Given the description of an element on the screen output the (x, y) to click on. 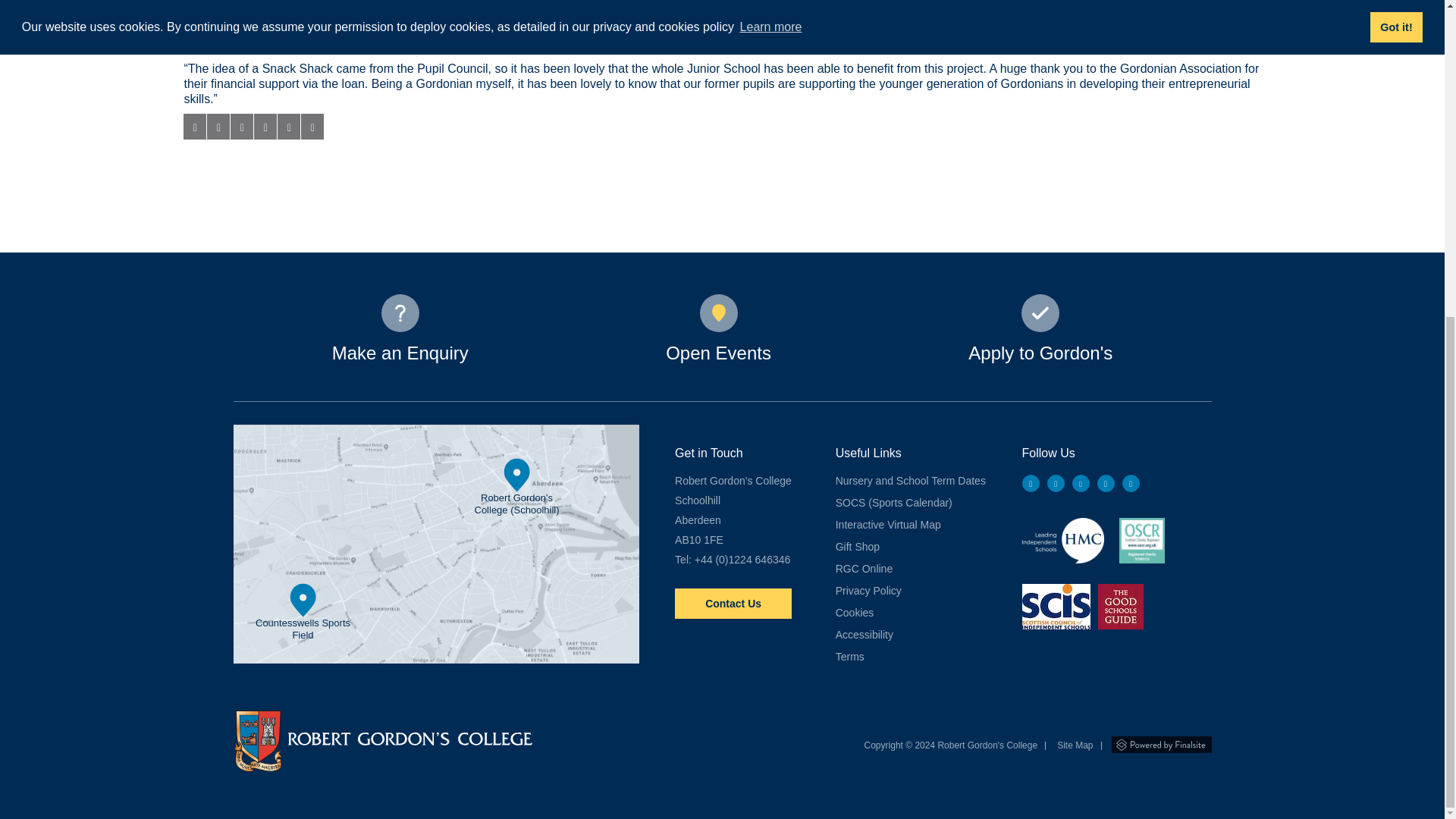
Share to LinkedIn (241, 126)
Share to Facebook (194, 126)
Share to Email (288, 126)
Share to Twitter (218, 126)
Share to Pinterest (264, 126)
Print this page (312, 126)
Powered by Finalsite opens in a new window (1161, 743)
